Given the description of an element on the screen output the (x, y) to click on. 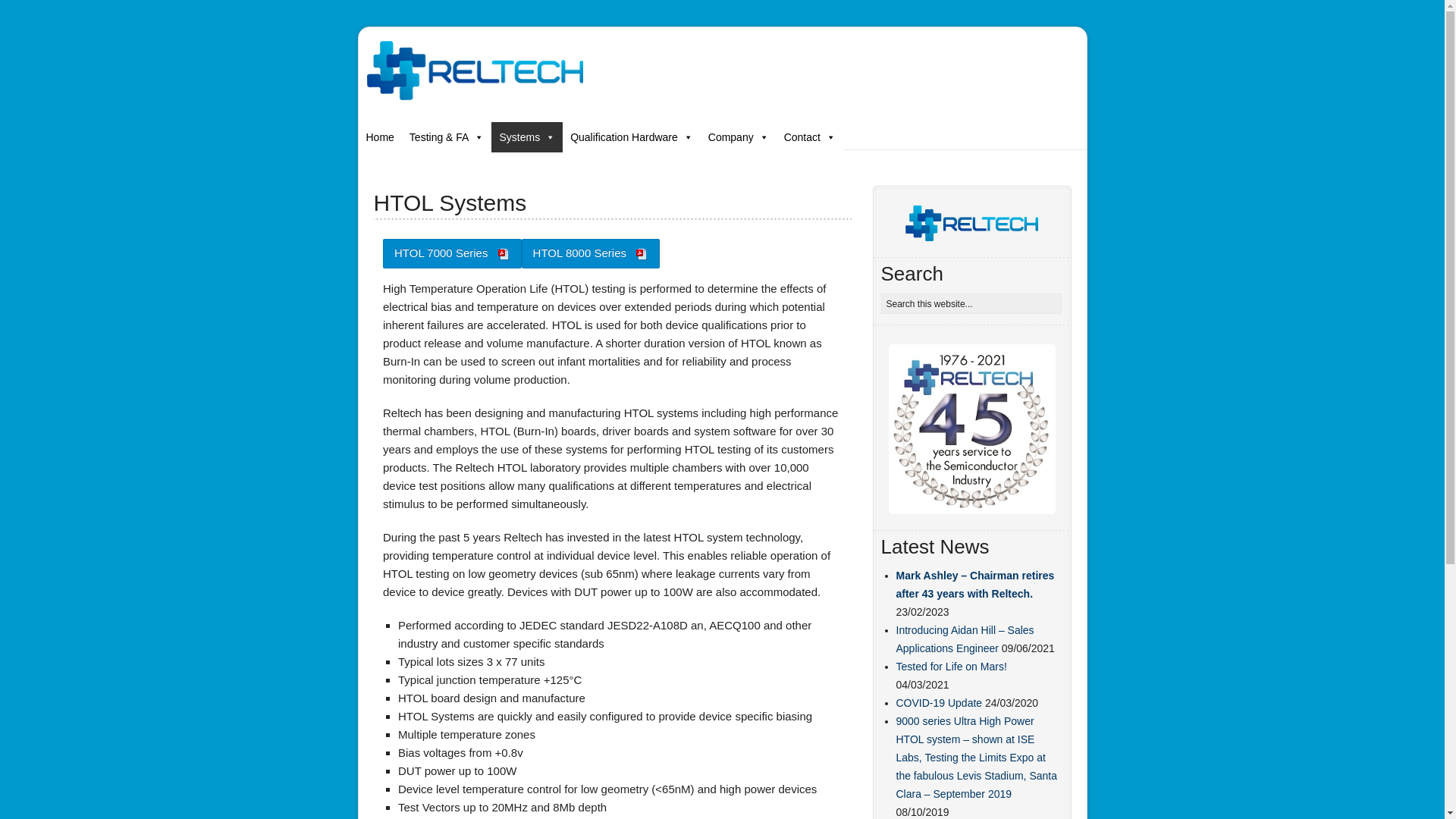
HTOL 7000 Series (451, 251)
COVID-19 Update (939, 702)
HTOL 8000 Series (591, 251)
HTOL 7000 Series (451, 251)
Home (379, 137)
Contact (809, 137)
Search this website... (970, 303)
HTOL 8000 Series (591, 251)
Systems (527, 137)
Company (738, 137)
Tested for Life on Mars! (951, 666)
Qualification Hardware (631, 137)
